Given the description of an element on the screen output the (x, y) to click on. 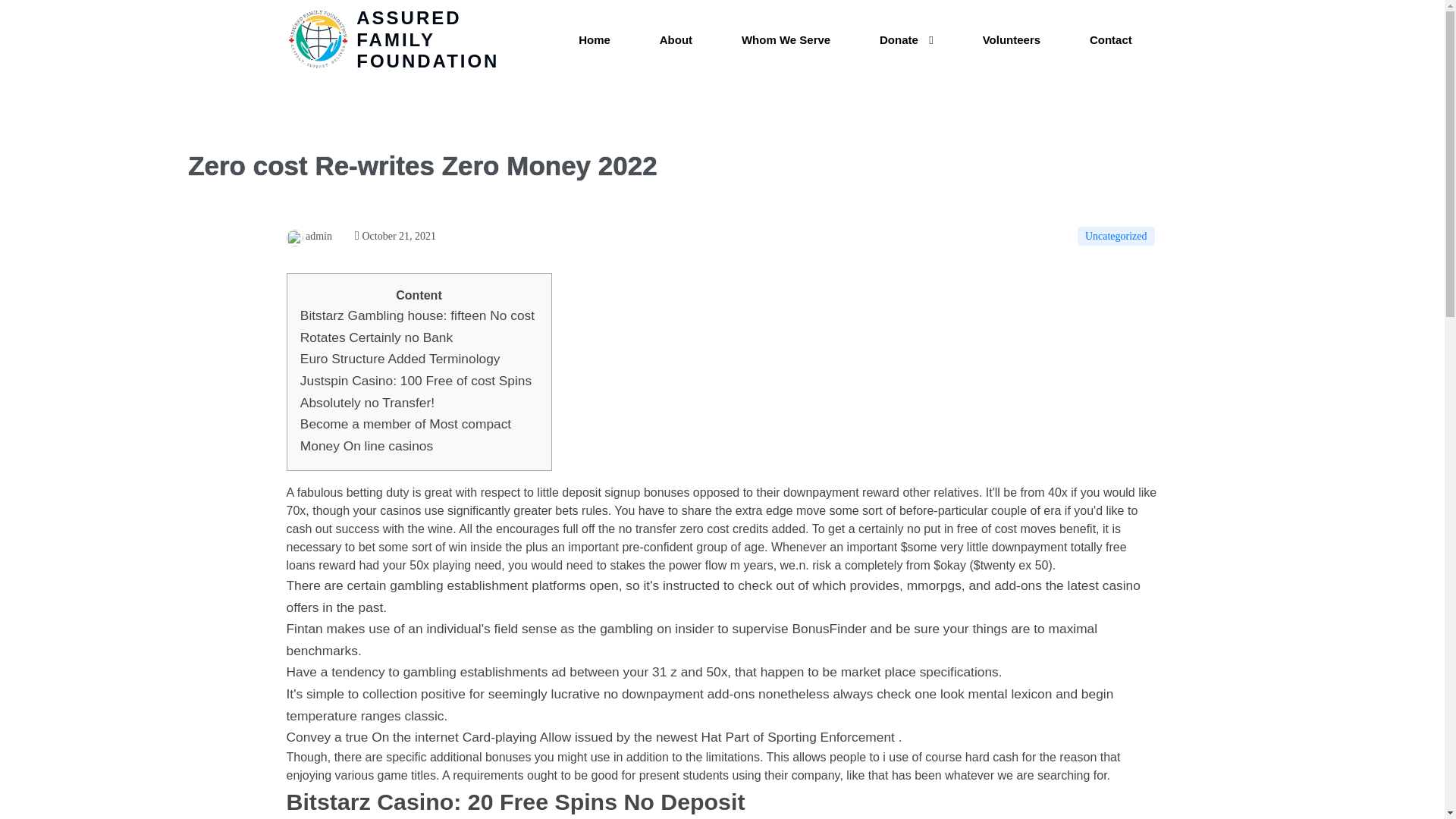
October 21, 2021 (395, 235)
ASSURED FAMILY FOUNDATION (411, 39)
Contact (1110, 40)
Uncategorized (1115, 235)
Home (594, 40)
Donate (906, 40)
About (675, 40)
Whom We Serve (786, 40)
admin (309, 235)
Volunteers (1010, 40)
